Given the description of an element on the screen output the (x, y) to click on. 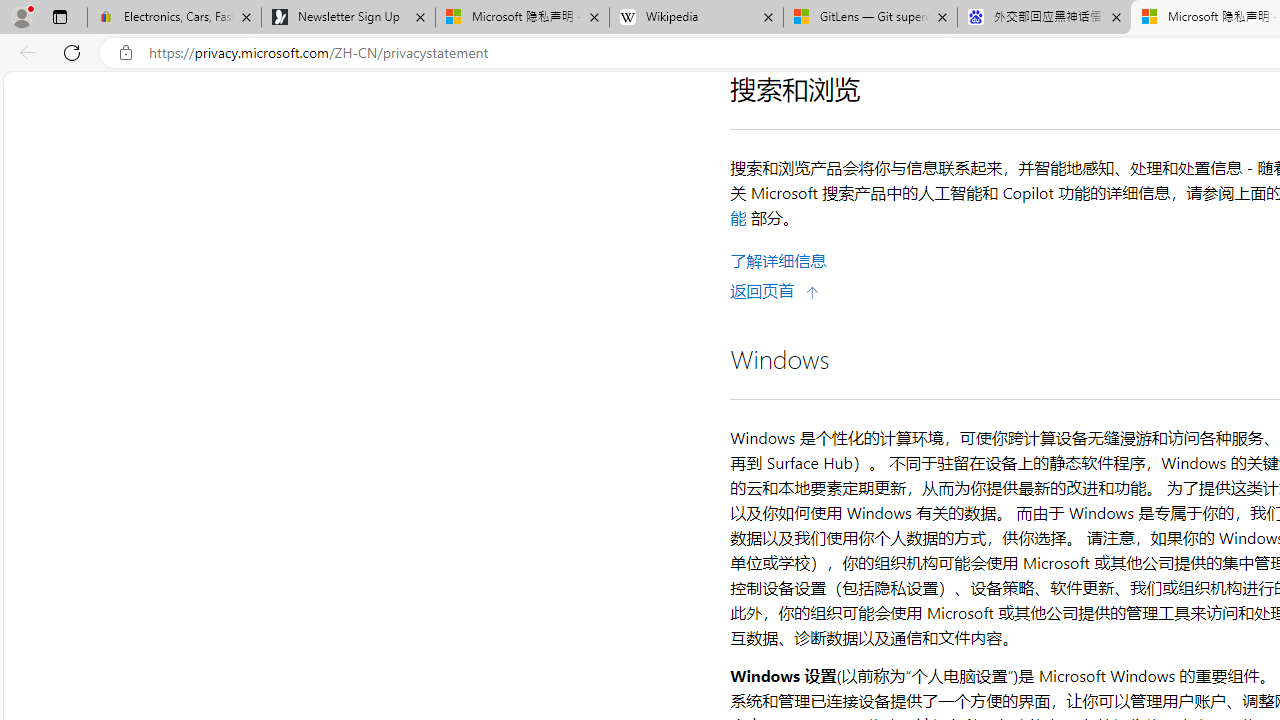
Newsletter Sign Up (348, 17)
